Given the description of an element on the screen output the (x, y) to click on. 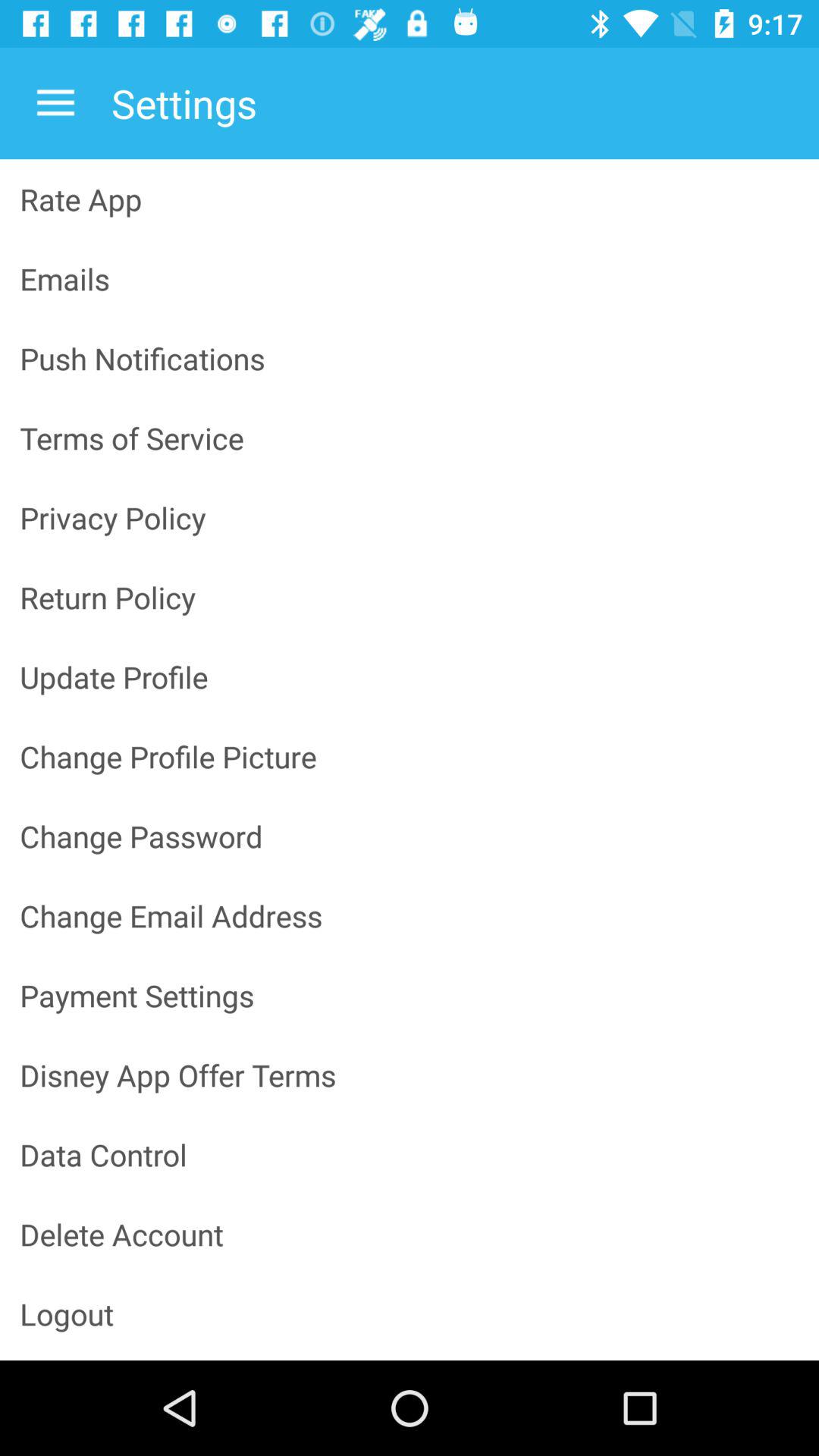
open change email address (409, 915)
